Given the description of an element on the screen output the (x, y) to click on. 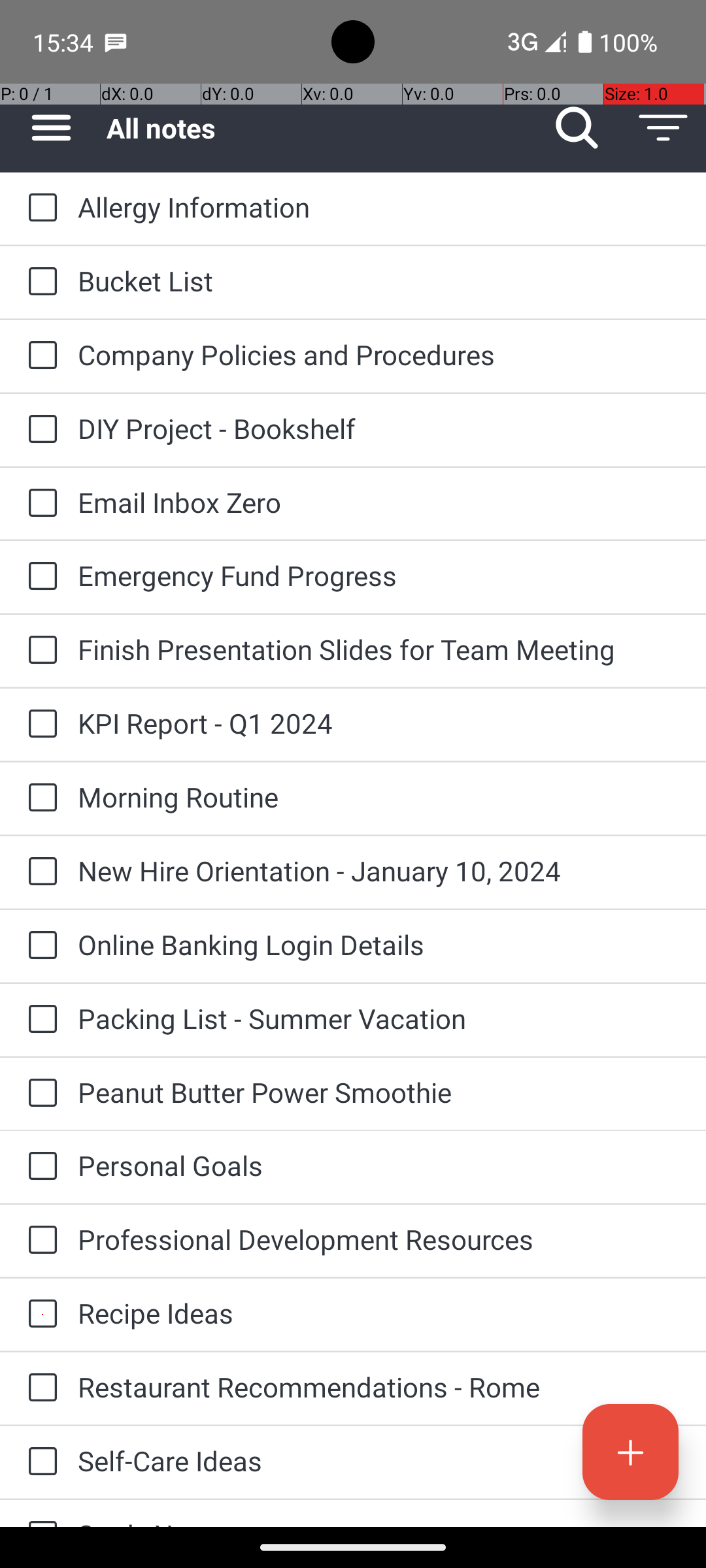
to-do: Allergy Information Element type: android.widget.CheckBox (38, 208)
Allergy Information Element type: android.widget.TextView (378, 206)
to-do: Bucket List Element type: android.widget.CheckBox (38, 282)
Bucket List Element type: android.widget.TextView (378, 280)
to-do: Company Policies and Procedures Element type: android.widget.CheckBox (38, 356)
Company Policies and Procedures Element type: android.widget.TextView (378, 354)
to-do: DIY Project - Bookshelf Element type: android.widget.CheckBox (38, 429)
DIY Project - Bookshelf Element type: android.widget.TextView (378, 427)
to-do: Email Inbox Zero Element type: android.widget.CheckBox (38, 503)
Email Inbox Zero Element type: android.widget.TextView (378, 501)
to-do: Emergency Fund Progress Element type: android.widget.CheckBox (38, 576)
Emergency Fund Progress Element type: android.widget.TextView (378, 574)
to-do: Finish Presentation Slides for Team Meeting Element type: android.widget.CheckBox (38, 650)
Finish Presentation Slides for Team Meeting Element type: android.widget.TextView (378, 648)
to-do: KPI Report - Q1 2024 Element type: android.widget.CheckBox (38, 724)
KPI Report - Q1 2024 Element type: android.widget.TextView (378, 722)
to-do: Morning Routine Element type: android.widget.CheckBox (38, 798)
Morning Routine Element type: android.widget.TextView (378, 796)
to-do: New Hire Orientation - January 10, 2024 Element type: android.widget.CheckBox (38, 872)
New Hire Orientation - January 10, 2024 Element type: android.widget.TextView (378, 870)
to-do: Online Banking Login Details Element type: android.widget.CheckBox (38, 945)
Online Banking Login Details Element type: android.widget.TextView (378, 944)
to-do: Packing List - Summer Vacation Element type: android.widget.CheckBox (38, 1019)
Packing List - Summer Vacation Element type: android.widget.TextView (378, 1017)
to-do: Peanut Butter Power Smoothie Element type: android.widget.CheckBox (38, 1093)
Peanut Butter Power Smoothie Element type: android.widget.TextView (378, 1091)
to-do: Personal Goals Element type: android.widget.CheckBox (38, 1166)
Personal Goals Element type: android.widget.TextView (378, 1164)
to-do: Professional Development Resources Element type: android.widget.CheckBox (38, 1240)
Professional Development Resources Element type: android.widget.TextView (378, 1238)
to-do: Recipe Ideas Element type: android.widget.CheckBox (38, 1314)
Recipe Ideas Element type: android.widget.TextView (378, 1312)
to-do: Restaurant Recommendations - Rome Element type: android.widget.CheckBox (38, 1388)
Restaurant Recommendations - Rome Element type: android.widget.TextView (378, 1386)
to-do: Self-Care Ideas Element type: android.widget.CheckBox (38, 1462)
Self-Care Ideas Element type: android.widget.TextView (378, 1460)
to-do: Study Notes Element type: android.widget.CheckBox (38, 1513)
Study Notes Element type: android.widget.TextView (378, 1520)
